Given the description of an element on the screen output the (x, y) to click on. 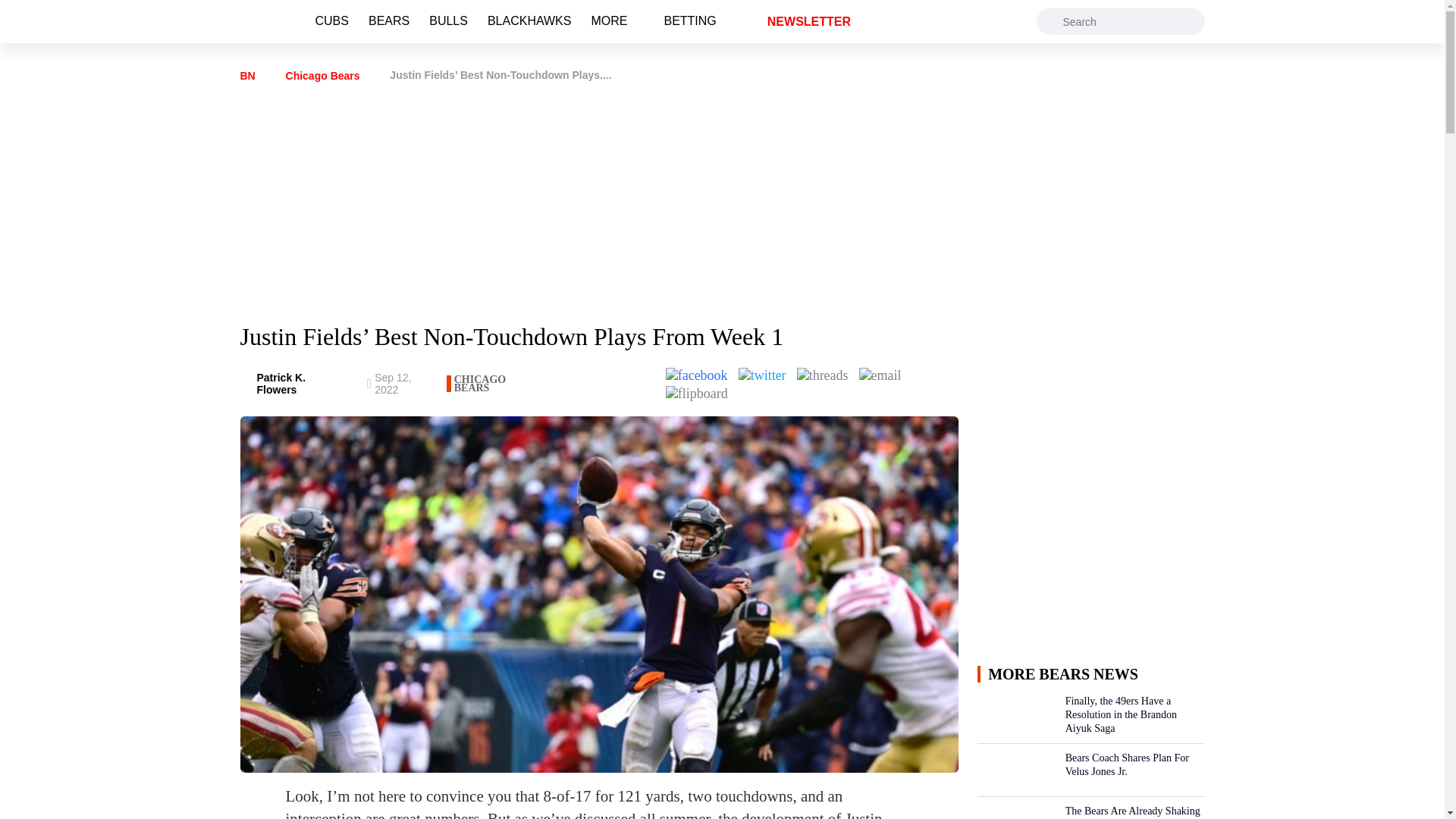
BEARS (388, 14)
BULLS (448, 14)
MORE (609, 14)
BLACKHAWKS (529, 14)
BETTING (689, 14)
CUBS (332, 14)
